Given the description of an element on the screen output the (x, y) to click on. 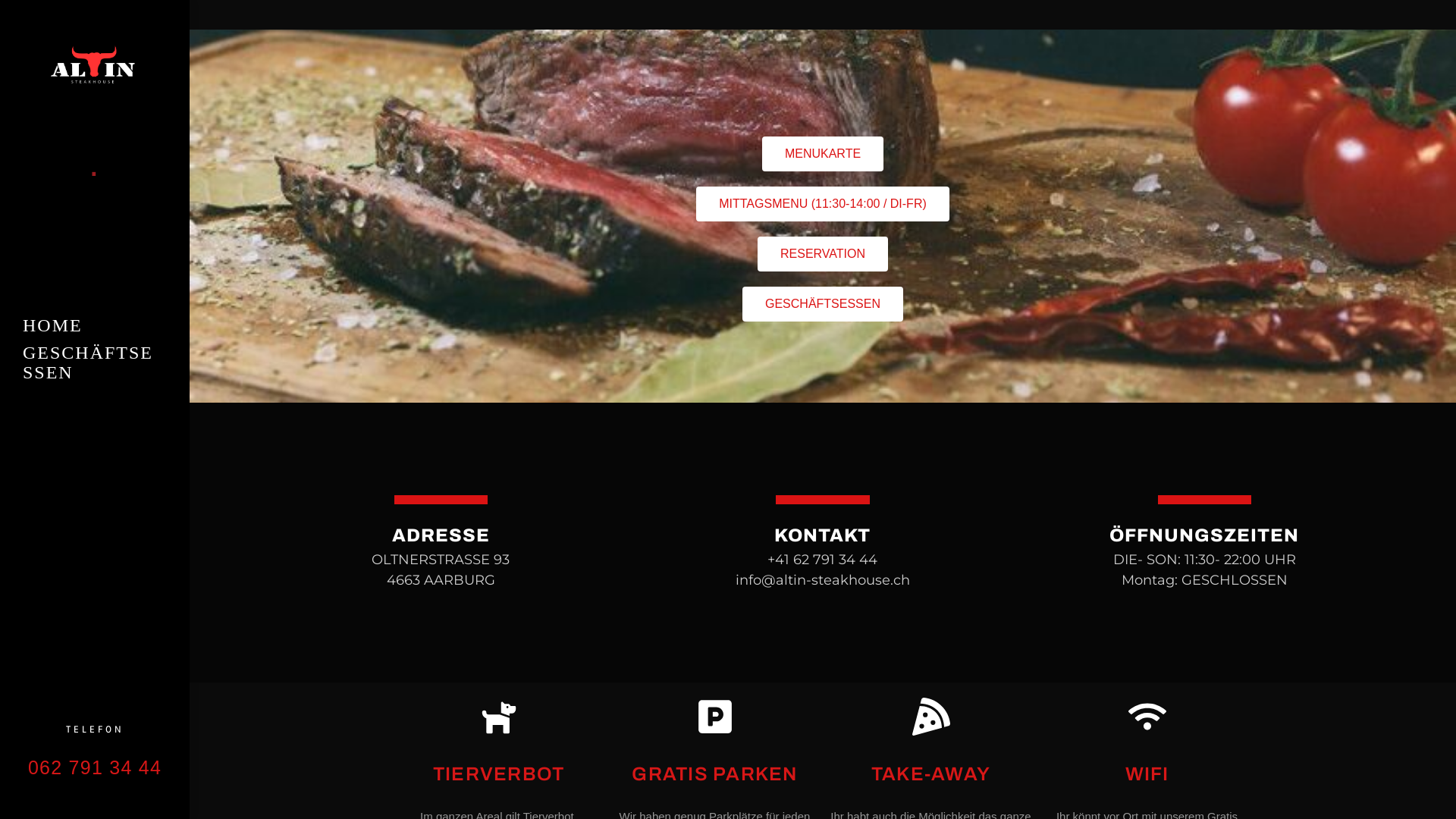
ADRESSE Element type: text (440, 535)
RESERVATION Element type: text (822, 253)
MENUKARTE Element type: text (822, 153)
HOME Element type: text (94, 325)
MITTAGSMENU (11:30-14:00 / DI-FR) Element type: text (822, 203)
. Element type: text (94, 144)
